Given the description of an element on the screen output the (x, y) to click on. 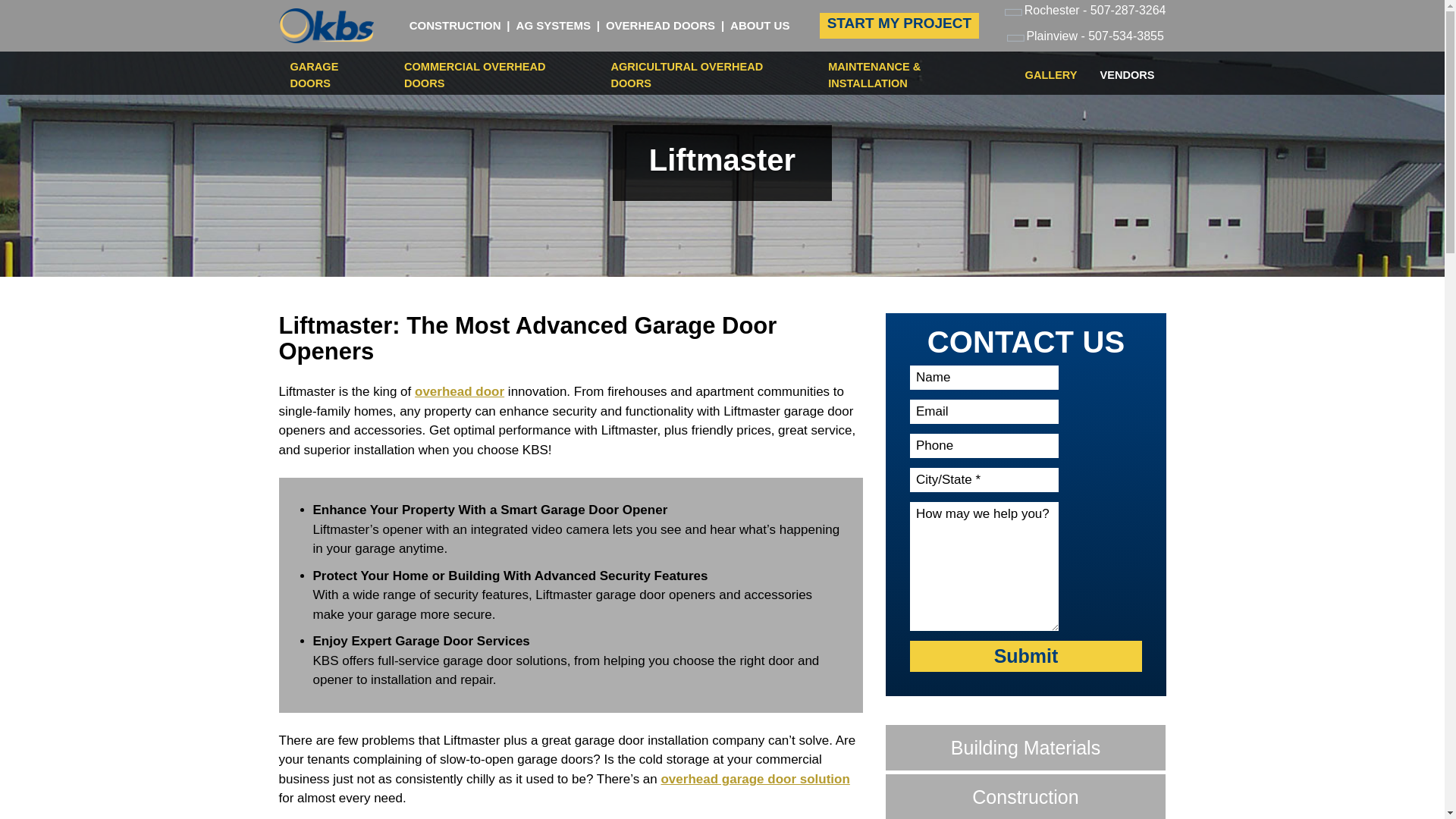
AG Systems (553, 24)
ABOUT US (759, 24)
About Us (759, 24)
GARAGE DOORS (335, 75)
Rochester - 507-287-3264 (1087, 12)
Plainview - 507-534-3855 (1087, 38)
AGRICULTURAL OVERHEAD DOORS (708, 75)
OVERHEAD DOORS (659, 24)
Gallery (1050, 75)
AG SYSTEMS (553, 24)
Start my Project (898, 25)
Vendors (1127, 75)
COMMERCIAL OVERHEAD DOORS (495, 75)
Garage Doors (335, 75)
Agricultural Overhead Doors (708, 75)
